Given the description of an element on the screen output the (x, y) to click on. 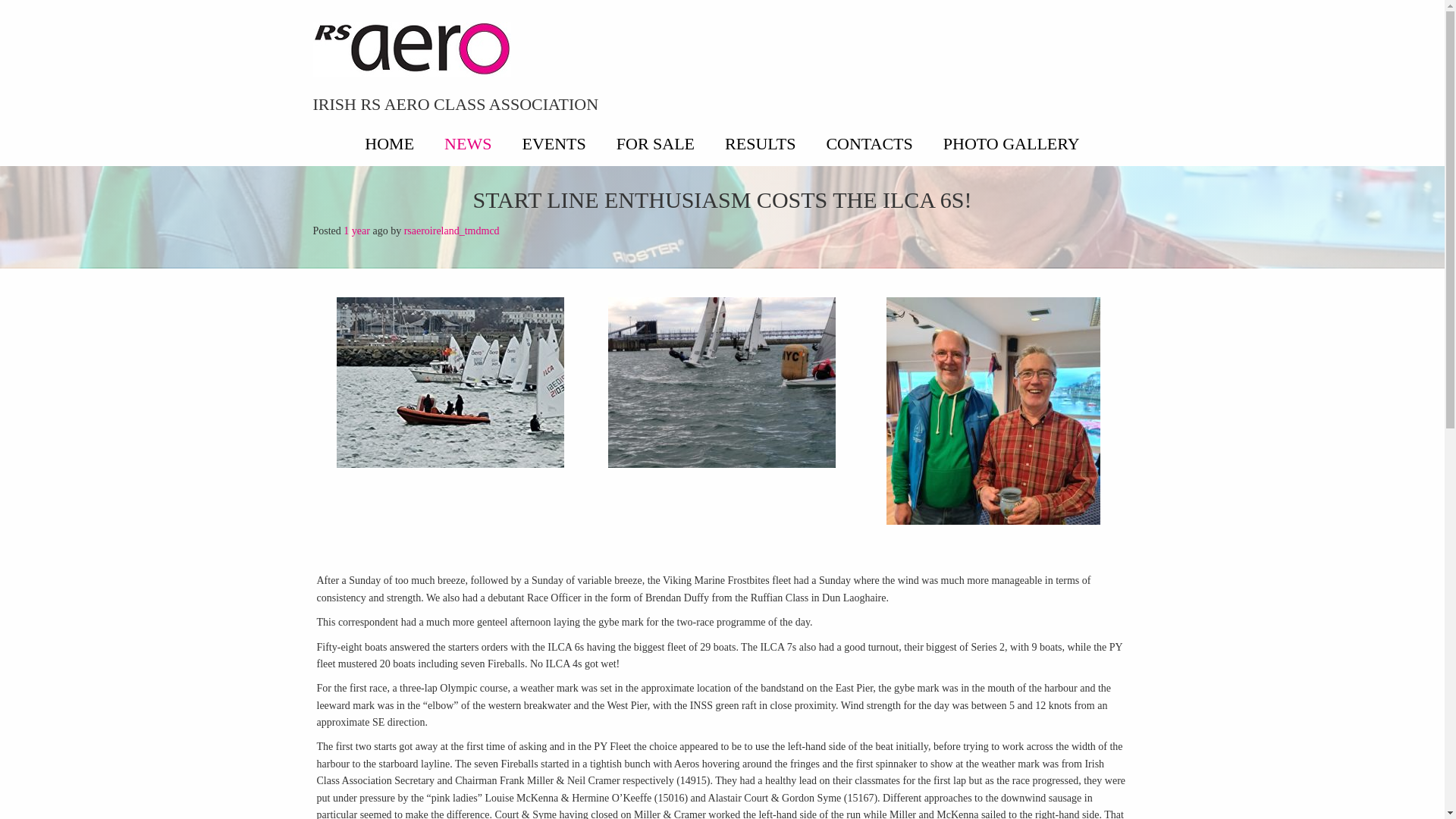
EVENTS (552, 143)
IRISH RS AERO CLASS ASSOCIATION (455, 104)
NEWS (467, 143)
START LINE ENTHUSIASM COSTS THE ILCA 6S! (721, 199)
RESULTS (760, 143)
PHOTO GALLERY (1011, 143)
HOME (389, 143)
1 year (356, 230)
FOR SALE (655, 143)
